Given the description of an element on the screen output the (x, y) to click on. 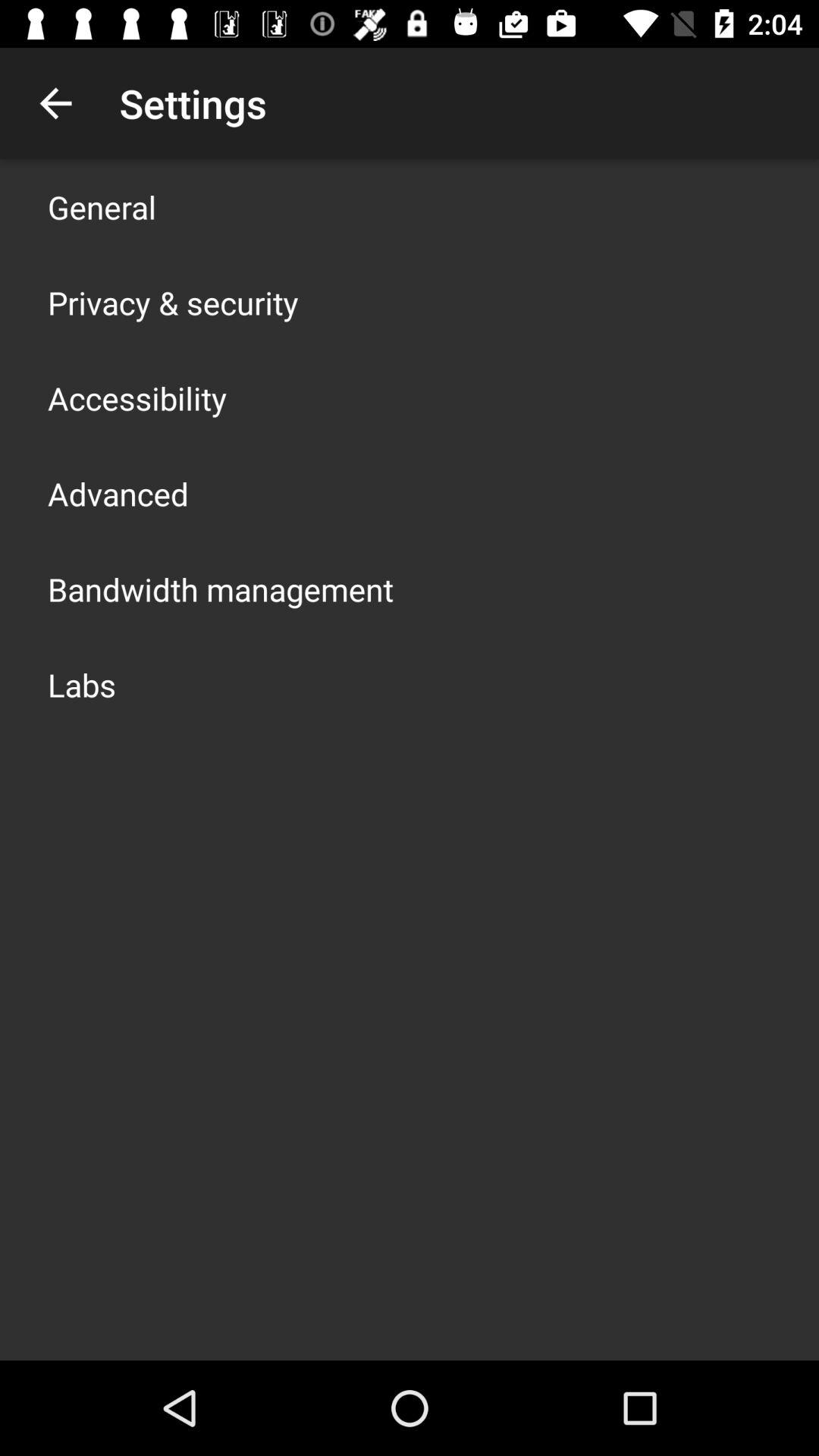
press the app below privacy & security app (136, 397)
